Given the description of an element on the screen output the (x, y) to click on. 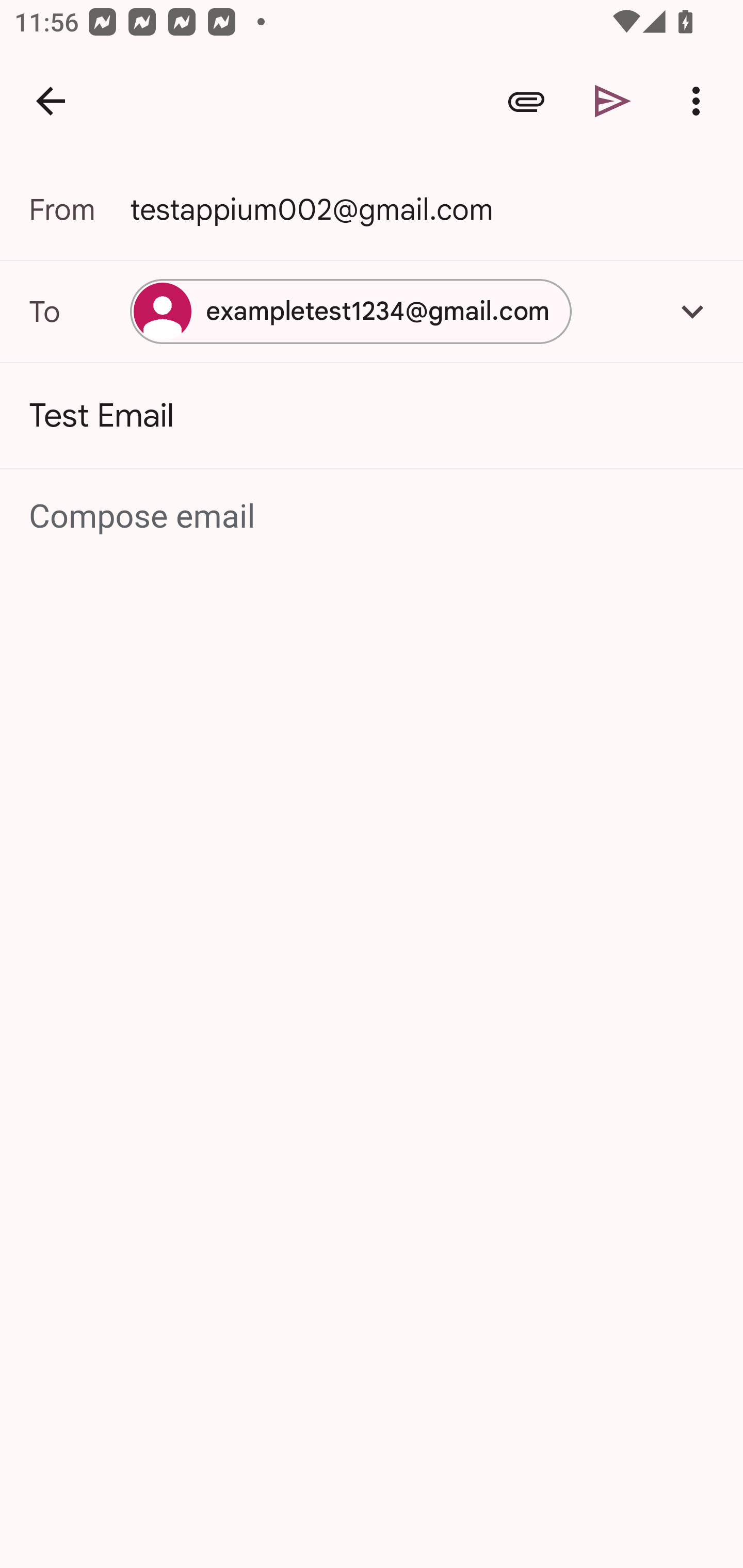
Navigate up (50, 101)
Attach file (525, 101)
Send (612, 101)
More options (699, 101)
From (79, 209)
Add Cc/Bcc (692, 311)
Test Email (371, 415)
Compose email (372, 517)
